Given the description of an element on the screen output the (x, y) to click on. 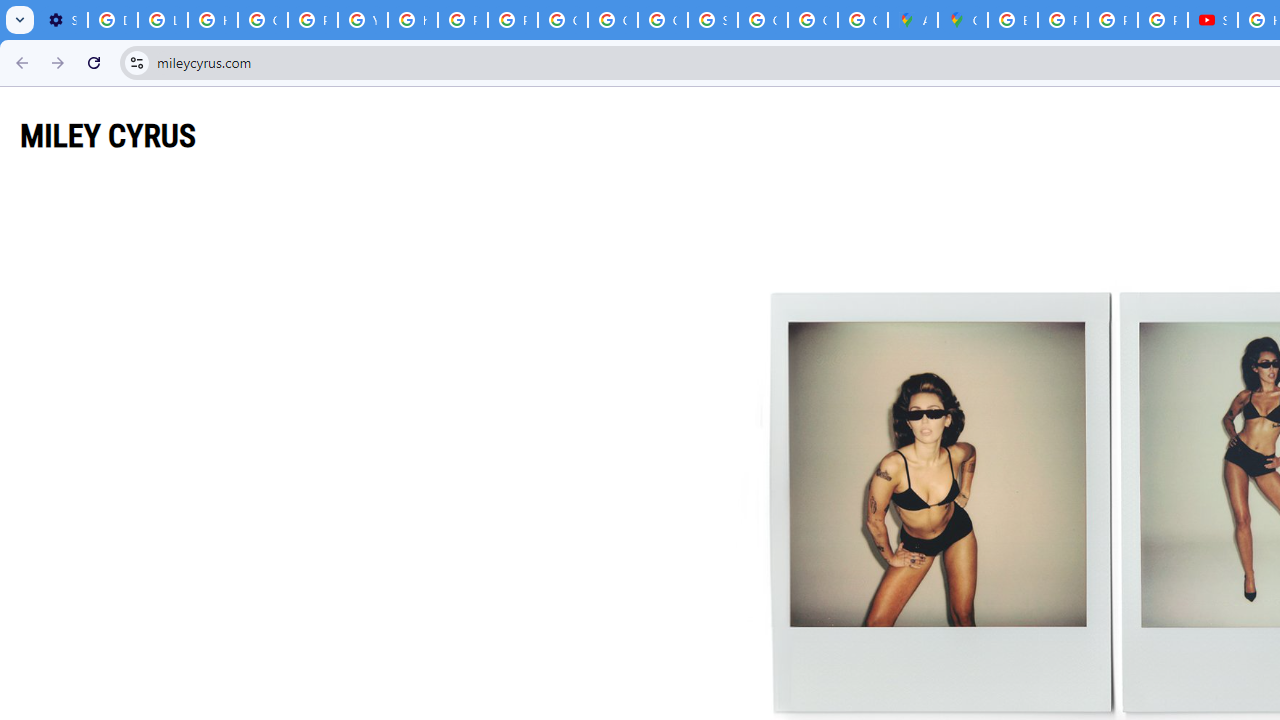
Sign in - Google Accounts (712, 20)
